Given the description of an element on the screen output the (x, y) to click on. 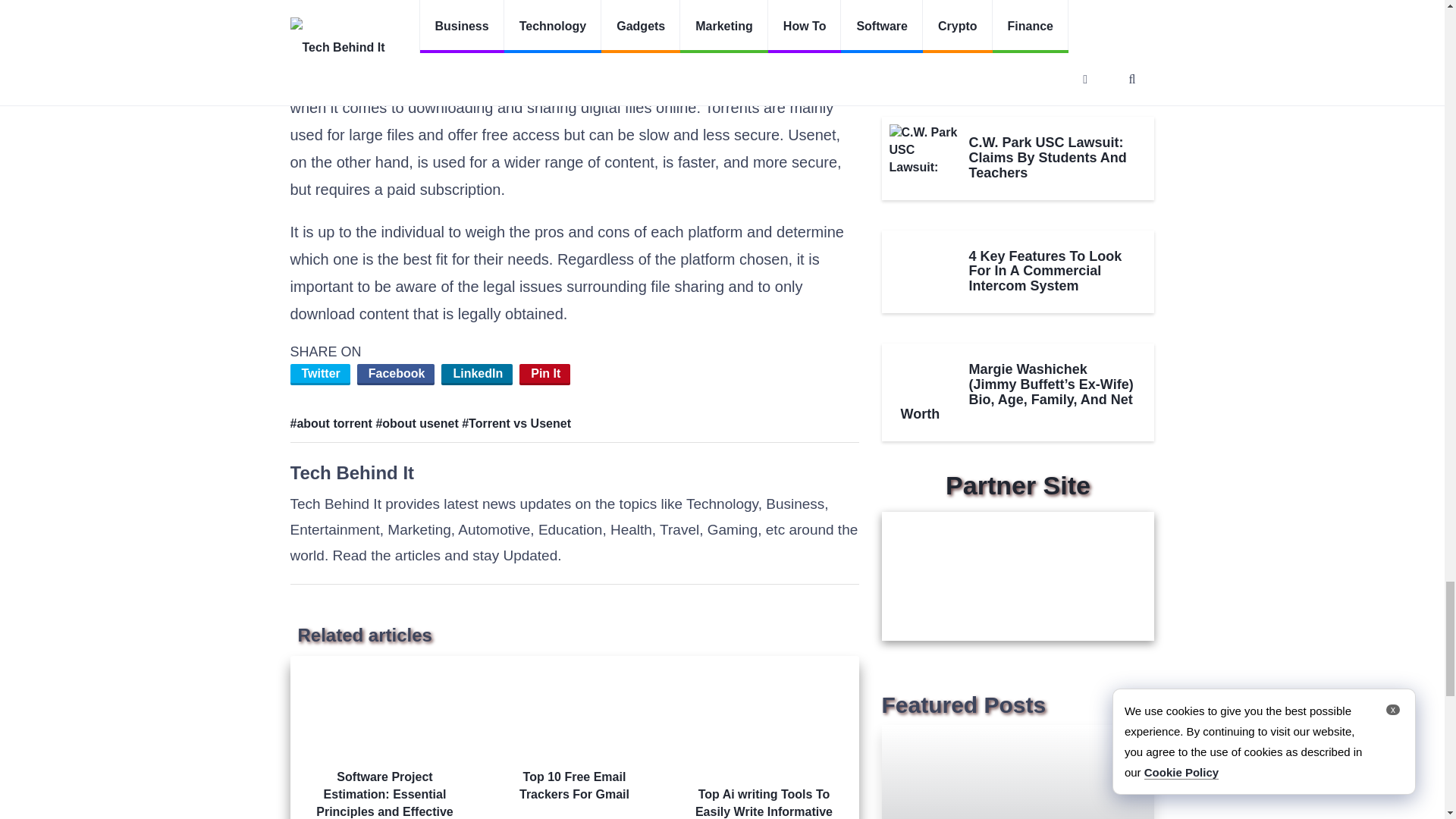
Top Ai writing Tools To Easily Write Informative Articles (763, 743)
Top 10 Free Email Trackers For Gmail (574, 735)
